Given the description of an element on the screen output the (x, y) to click on. 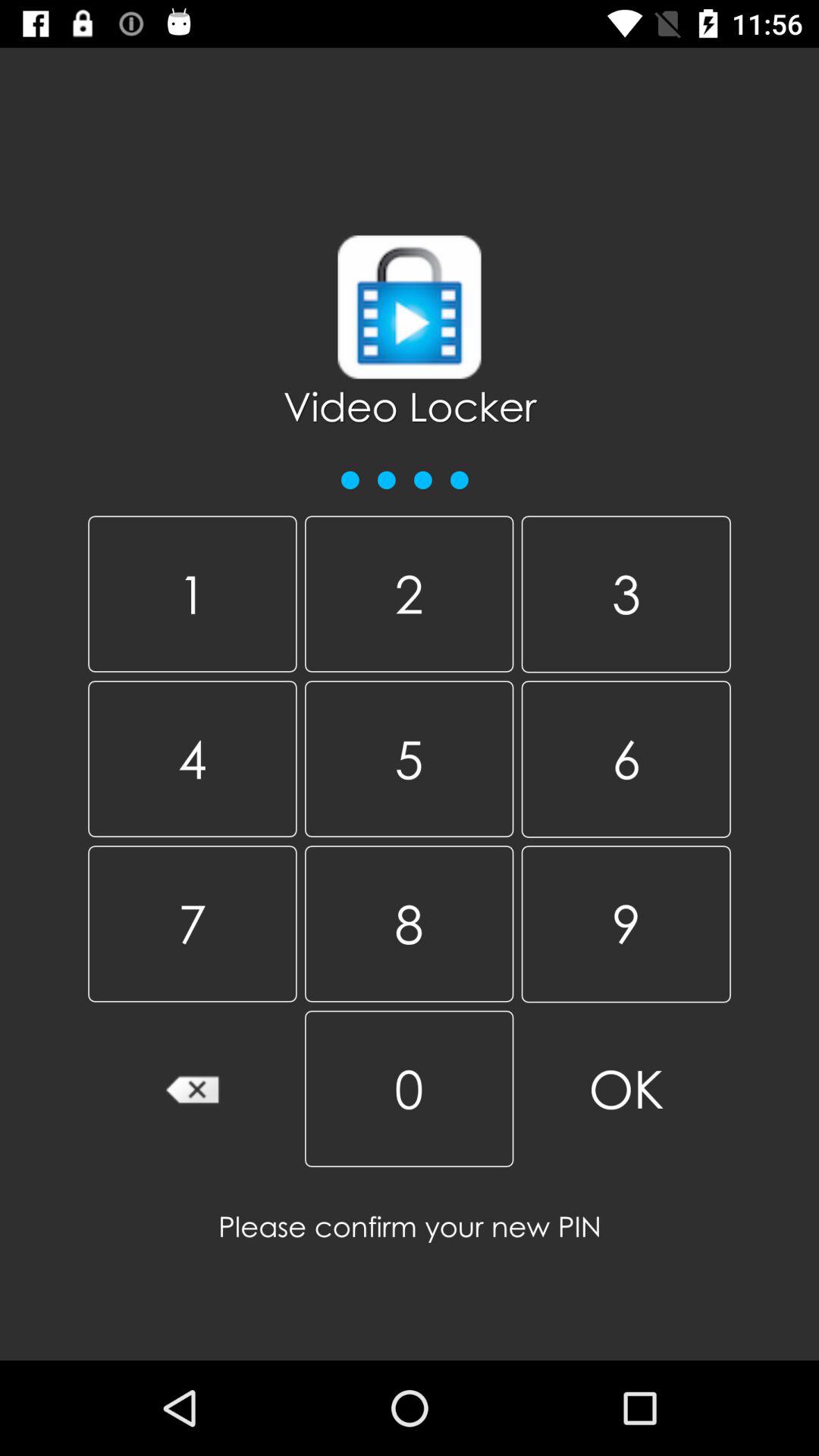
click the item at the bottom right corner (625, 1088)
